Given the description of an element on the screen output the (x, y) to click on. 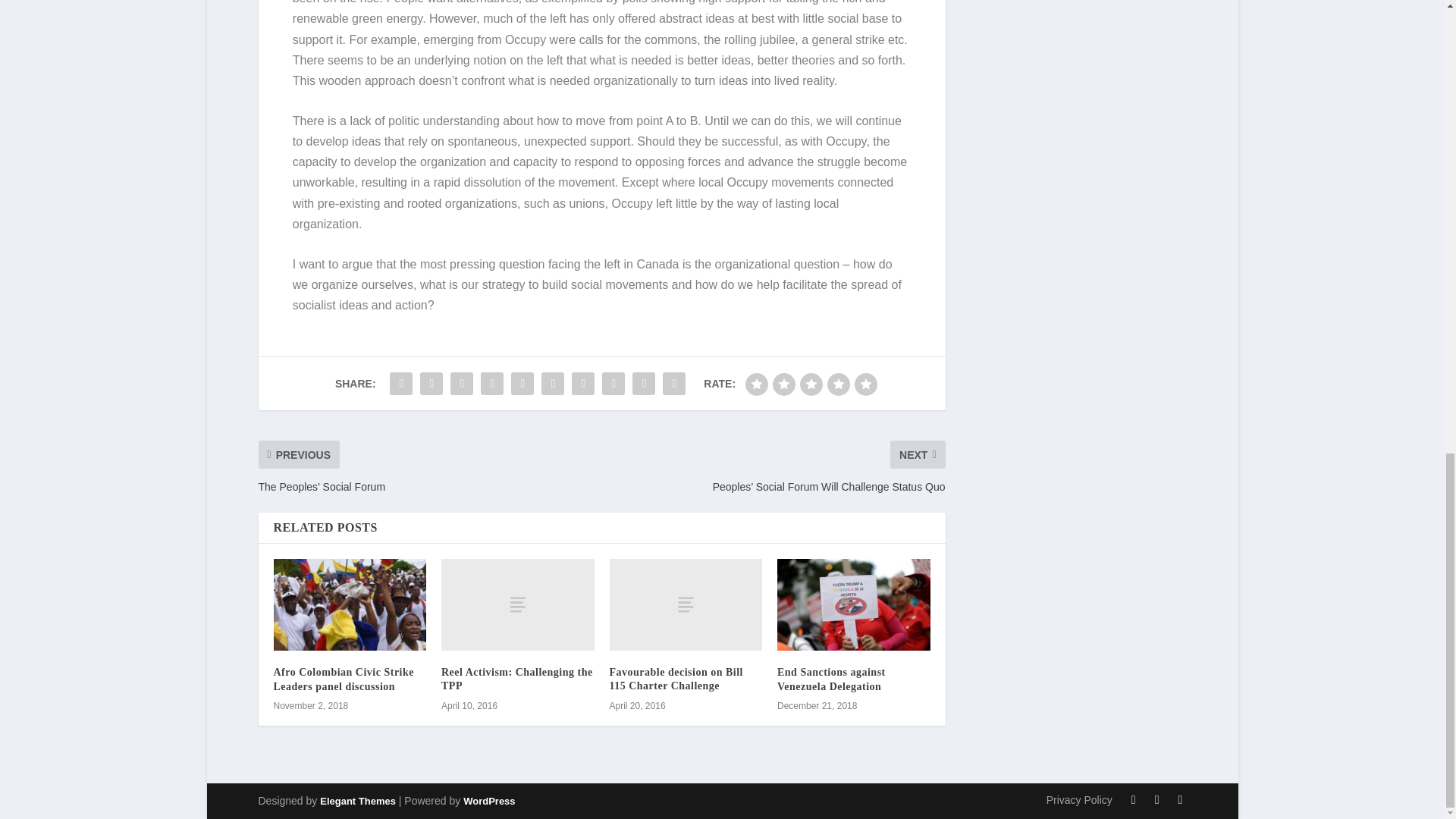
Reel Activism: Challenging the TPP (516, 678)
regular (810, 384)
bad (756, 384)
Afro Colombian Civic Strike Leaders panel discussion (343, 678)
poor (783, 384)
good (838, 384)
gorgeous (865, 384)
